Given the description of an element on the screen output the (x, y) to click on. 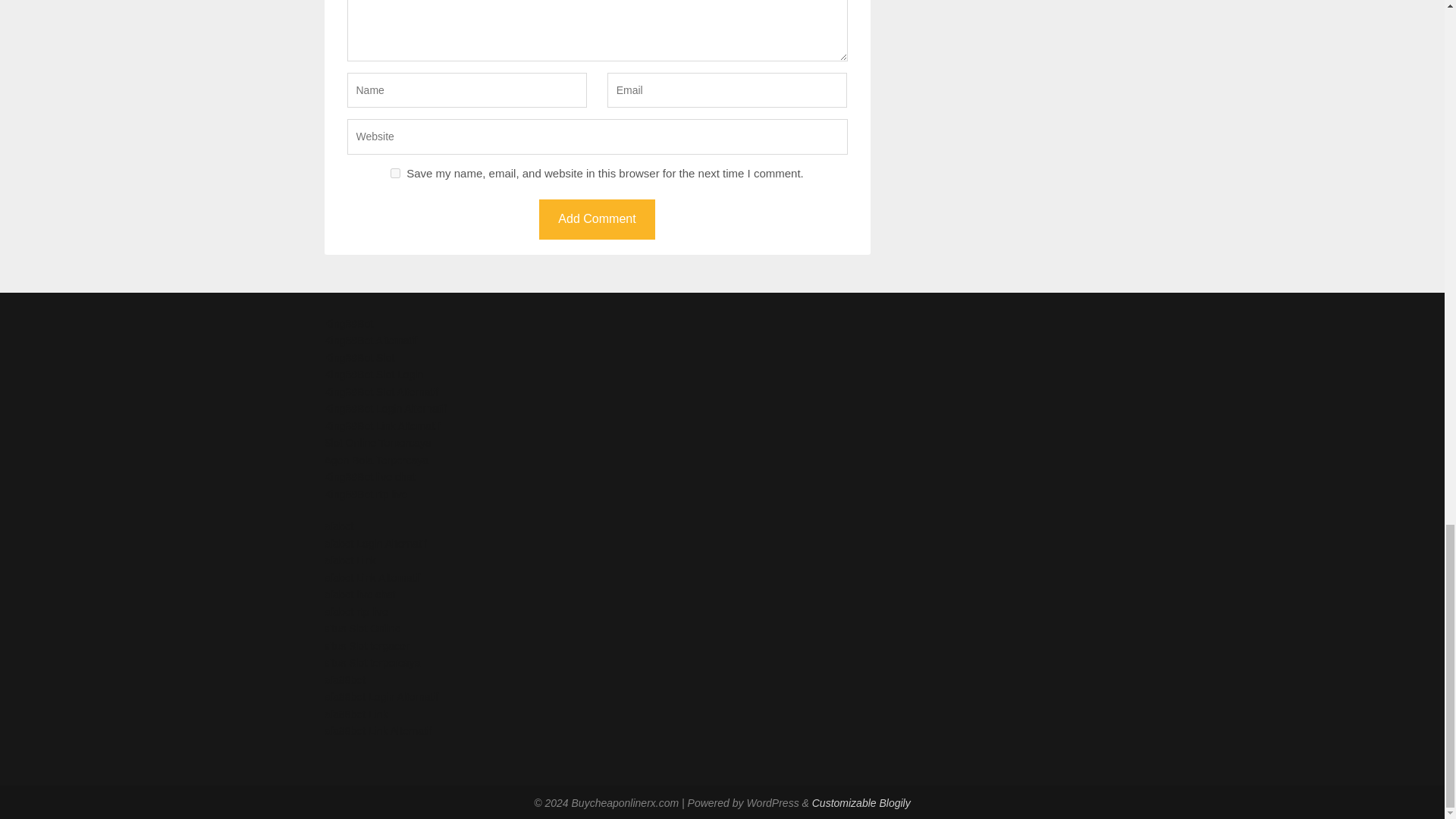
Add Comment (595, 219)
Add Comment (595, 219)
yes (395, 173)
